Given the description of an element on the screen output the (x, y) to click on. 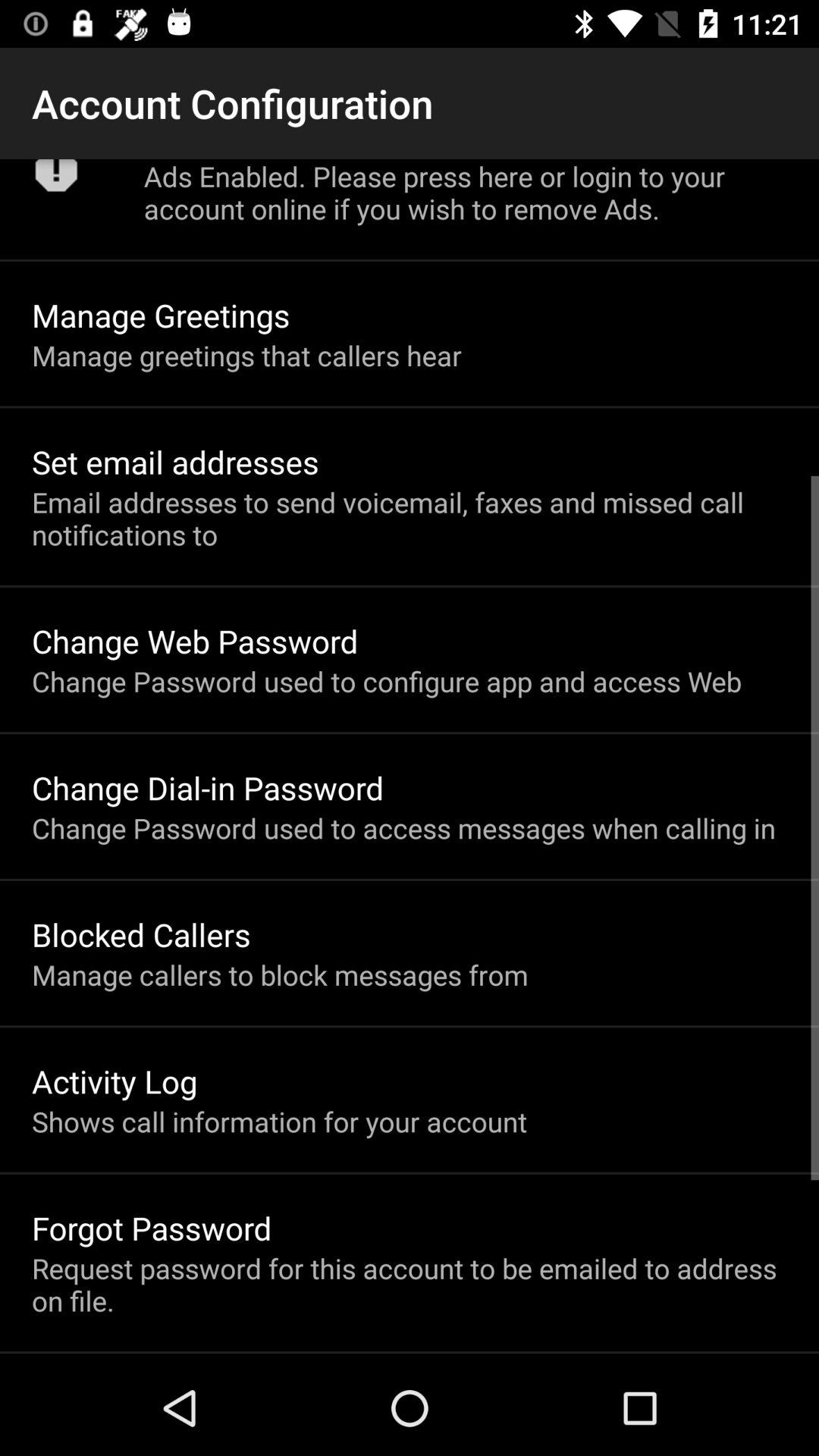
turn off the item below activity log icon (279, 1121)
